Given the description of an element on the screen output the (x, y) to click on. 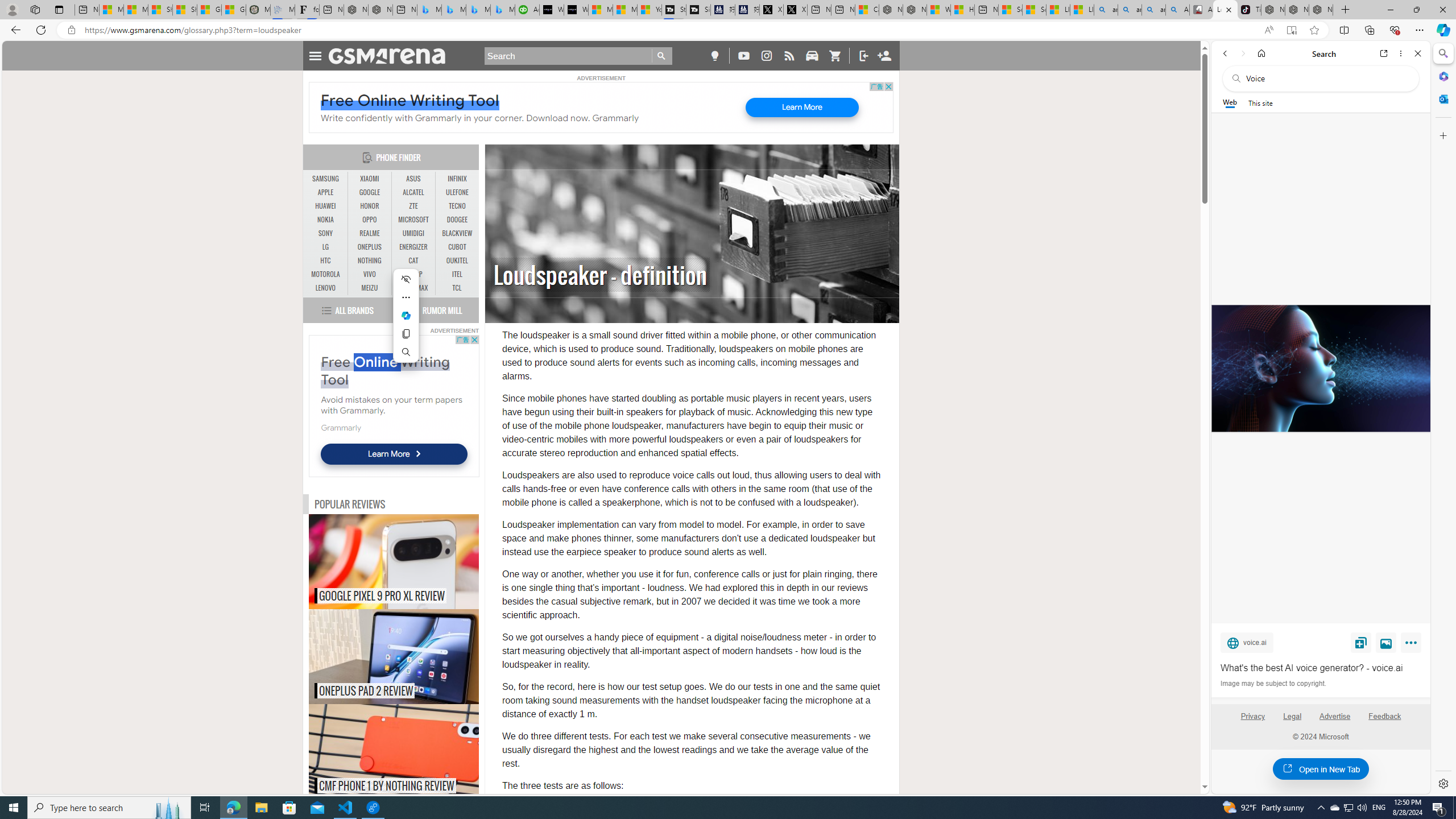
BLACKVIEW (457, 233)
LG (325, 246)
More (1413, 644)
Streaming Coverage | T3 (673, 9)
Microsoft Bing Travel - Stays in Bangkok, Bangkok, Thailand (453, 9)
This site scope (1259, 102)
INFINIX (457, 178)
App bar (728, 29)
OUKITEL (457, 260)
voice.ai (1247, 642)
Microsoft 365 (1442, 76)
LENOVO (325, 287)
APPLE (325, 192)
